Given the description of an element on the screen output the (x, y) to click on. 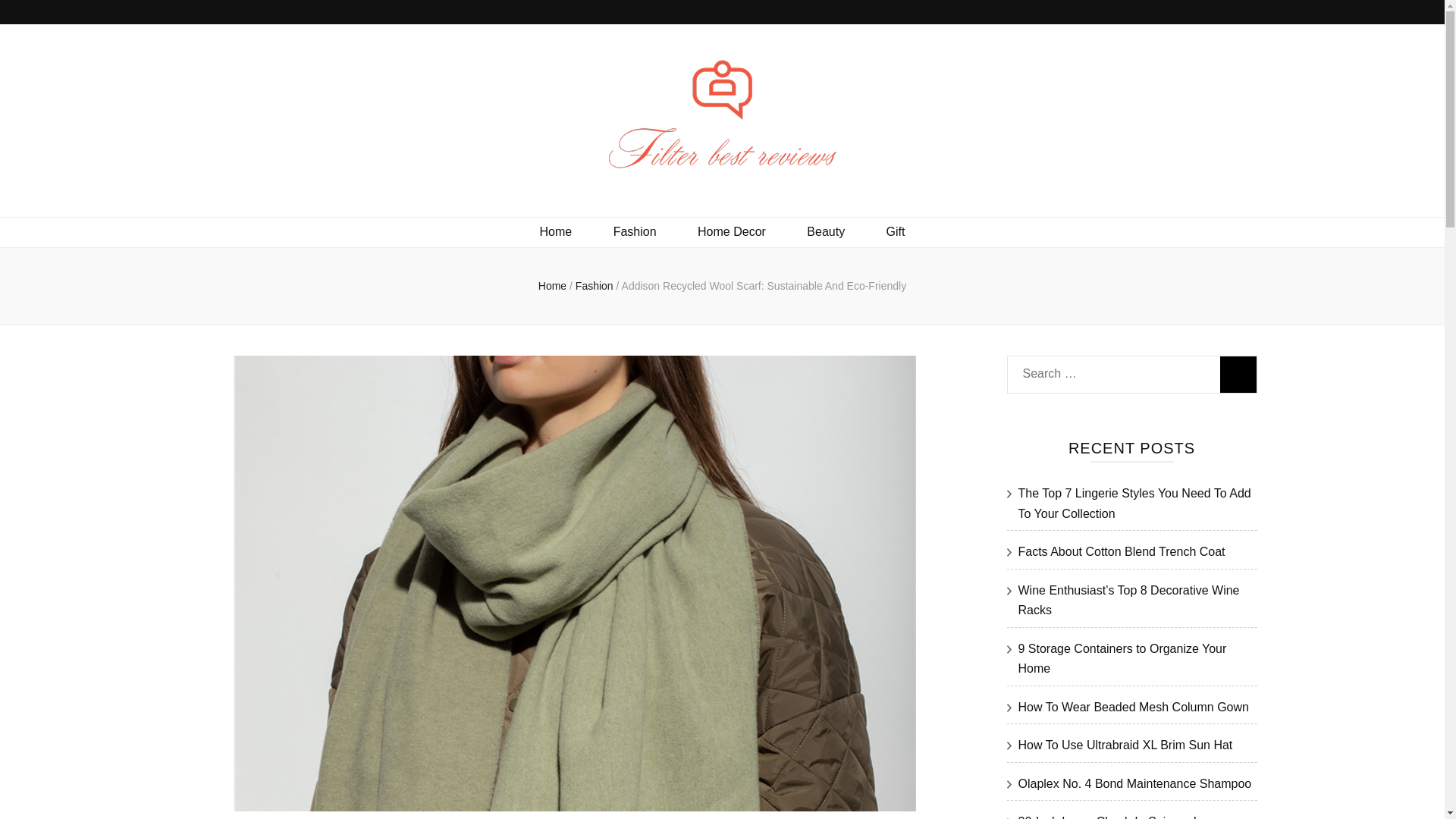
Search (1237, 374)
Fashion (634, 231)
How To Use Ultrabraid XL Brim Sun Hat (1124, 744)
Olaplex No. 4 Bond Maintenance Shampoo (1133, 783)
Home (552, 285)
Addison Recycled Wool Scarf: Sustainable And Eco-Friendly (764, 285)
9 Storage Containers to Organize Your Home (1121, 658)
Gift (895, 231)
Home Decor (731, 231)
Facts About Cotton Blend Trench Coat (1120, 551)
